Given the description of an element on the screen output the (x, y) to click on. 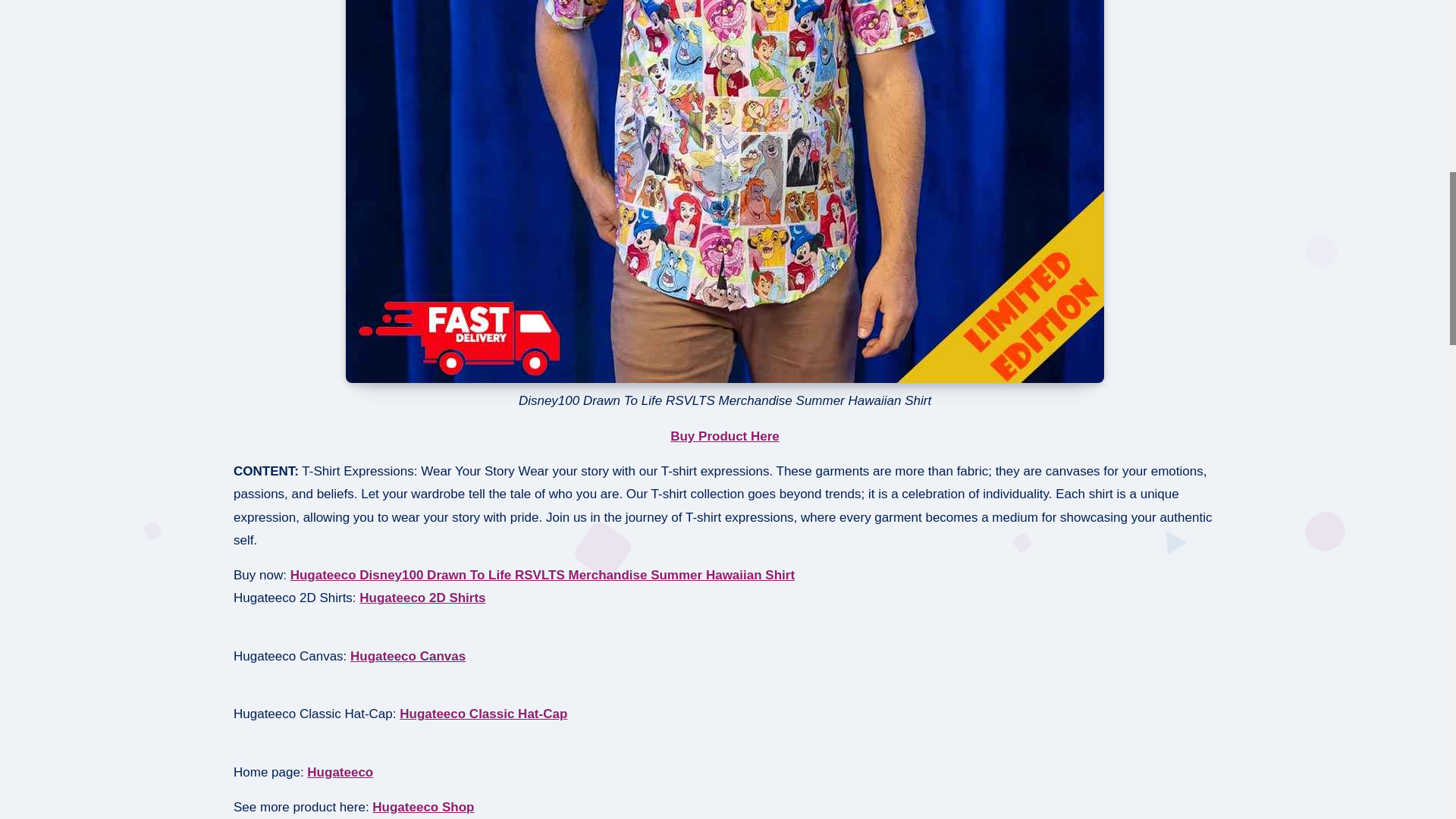
Hugateeco (339, 771)
Hugateeco Canvas (407, 656)
Hugateeco 2D Shirts (421, 597)
Hugateeco Classic Hat-Cap (482, 713)
Buy Product Here (723, 436)
Hugateeco Shop (423, 807)
